Given the description of an element on the screen output the (x, y) to click on. 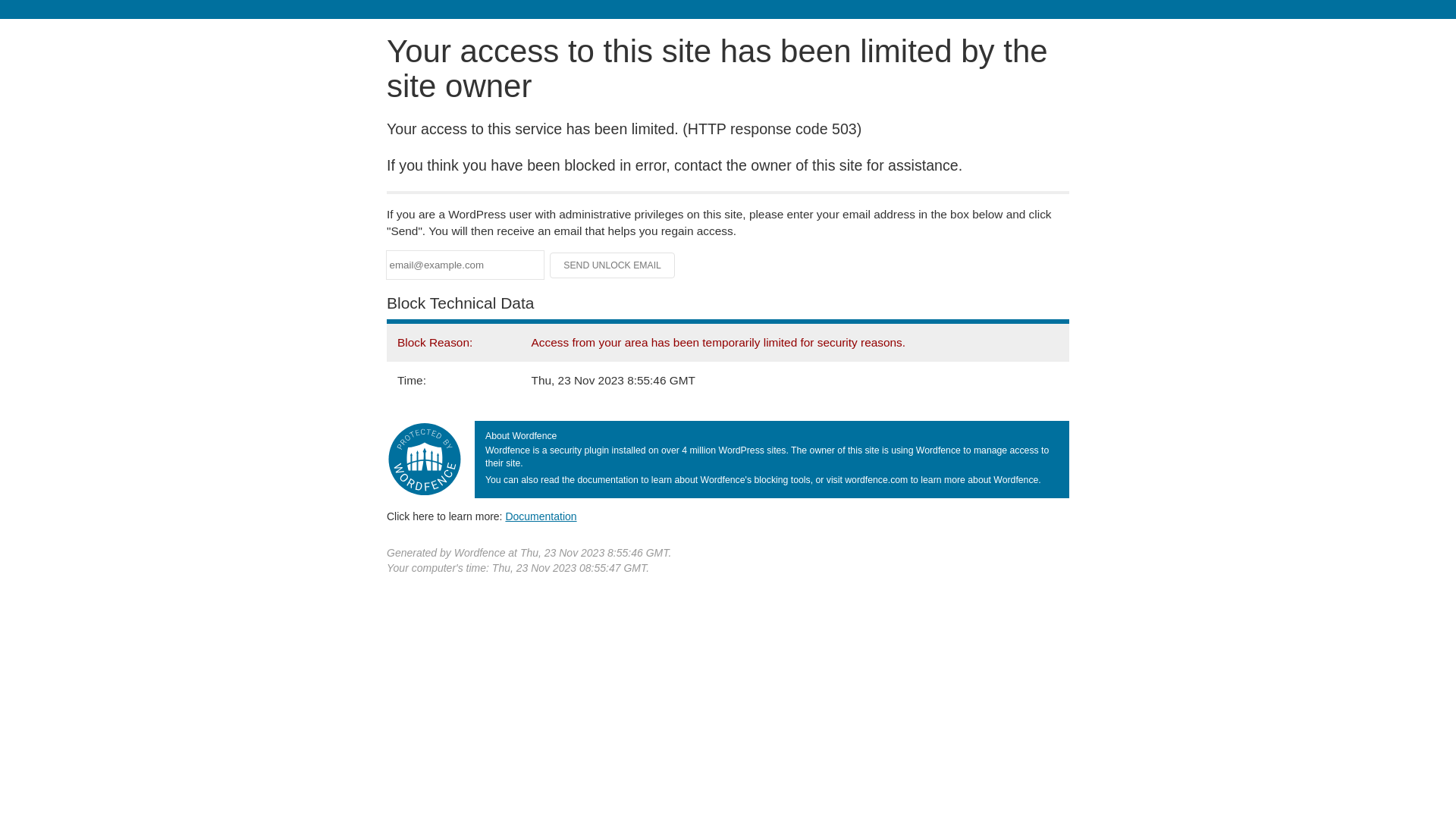
Documentation Element type: text (540, 516)
Send Unlock Email Element type: text (612, 265)
